Given the description of an element on the screen output the (x, y) to click on. 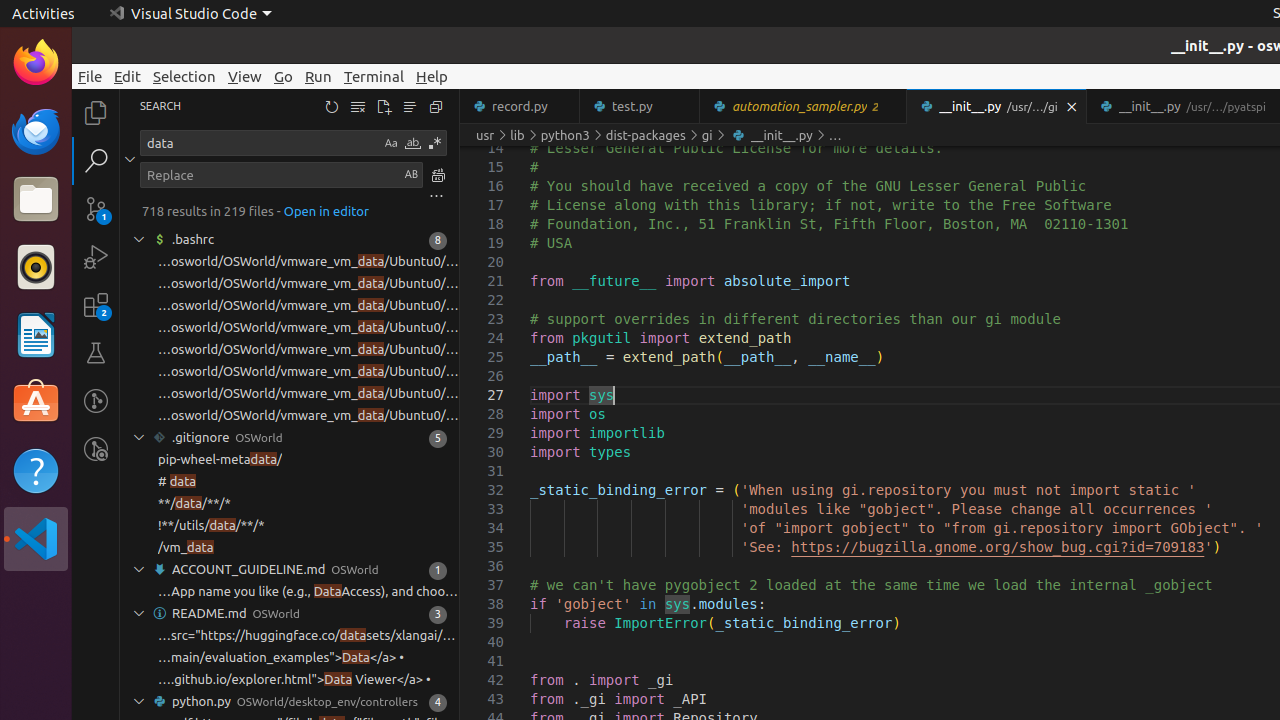
'alias vmlog='vmrun -gu user -gp password copyFileFromGuestToHost "/home/PJLAB/luyi1/osworld/OSWorld/vmware_vm_data/Ubuntu0/Ubuntu0.vmx" "/home/user/vm.log" "/home/PJLAB/luyi1/osworld/OSWorld/pylog/vm_test.log"'' at column 111 found data Element type: tree-item (289, 283)
5 matches in file .gitignore of folder OSWorld, Search result Element type: tree-item (289, 437)
Go Element type: push-button (283, 76)
'**/data/**/*' at column 4 found data Element type: tree-item (289, 503)
'alias vmbash='function _vmbash() { vmrun -T ws -gu user -gp password runScriptInGuest /home/PJLAB/luyi1/osworld/OSWorld/vmware_vm_data/Ubuntu0/Ubuntu0.vmx "/bin/bash" "$1 > /home/user/vm.log 2>&1" && vmrun -gu user -gp password copyFileFromGuestToHost /home/PJLAB/luyi1/osworld/OSWorld/vmware_vm_data/Ubuntu0/Ubuntu0.vmx /home/user/vm.log vm.log; }; _vmbash' vmrun -T ws -gu user -gp password runScriptInGuest /home/PJLAB/luyi1/osworld/OSWorld/vmware_vm_data/Ubuntu0/Ubuntu0.vmx "/bin/bash" "ip a > /home/user/vm.log" && vmrun -gu user -gp password copyFileFromGuestToHost /home/PJLAB/luyi1/osworld/OSWorld/vm' at column 455 found data Element type: tree-item (289, 349)
